Given the description of an element on the screen output the (x, y) to click on. 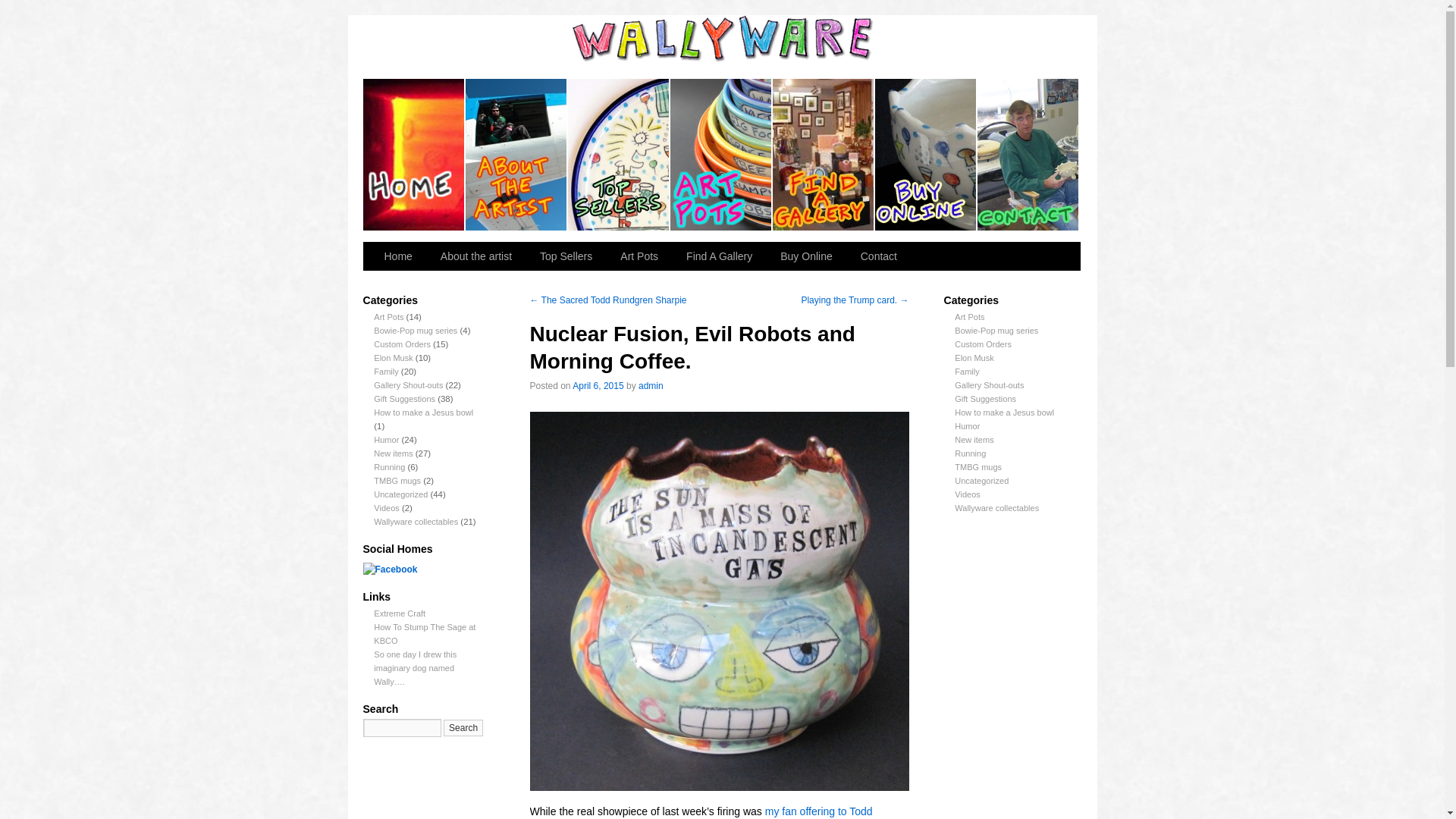
TMBG mugs (397, 480)
New items (393, 452)
How To Stump The Sage at KBCO (425, 633)
Find A Gallery (721, 256)
Extreme Craft (399, 613)
Search (463, 727)
This site is brilliant! (399, 613)
Humor (386, 439)
Uncategorized (401, 493)
Art Pots (641, 256)
